Given the description of an element on the screen output the (x, y) to click on. 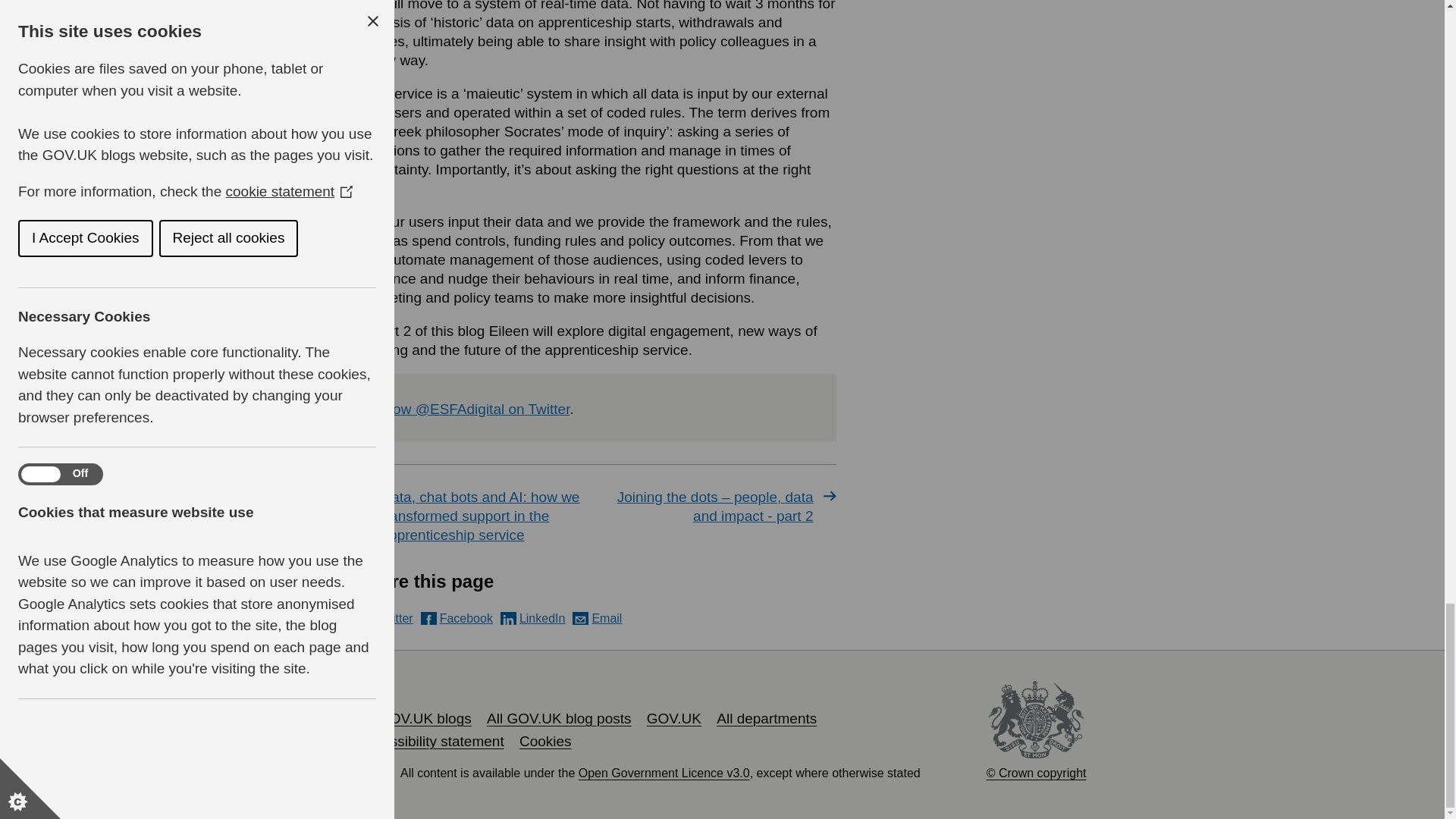
Accessibility statement (430, 741)
All GOV.UK blogs (414, 718)
Facebook (456, 617)
Cookies (545, 741)
Open Government Licence v3.0 (663, 772)
Twitter (385, 617)
GOV.UK (673, 718)
All departments (766, 718)
Email (596, 617)
All GOV.UK blog posts (558, 718)
LinkedIn (533, 617)
